Given the description of an element on the screen output the (x, y) to click on. 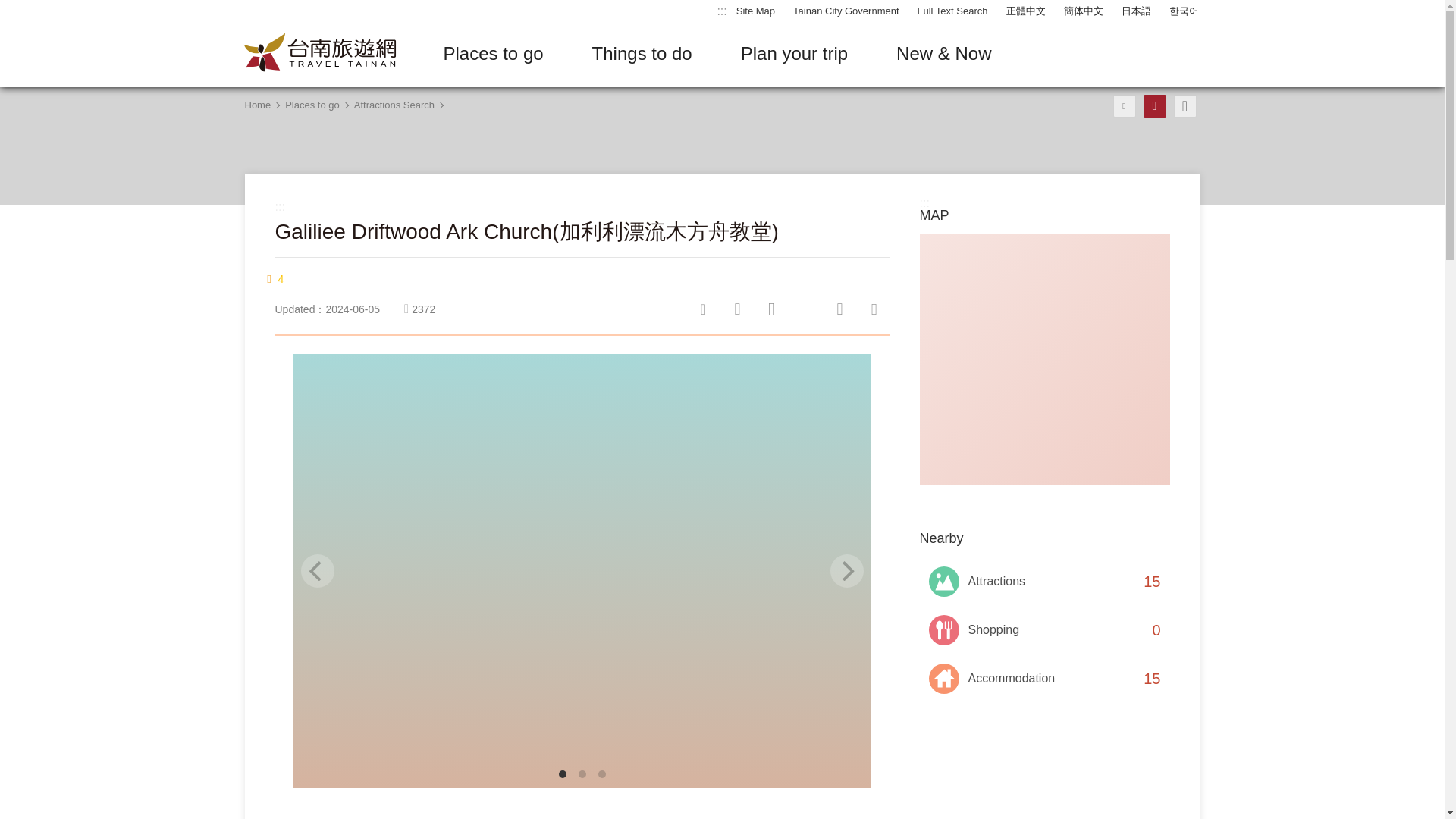
Tainan City Government (845, 11)
Tainan Travel (319, 53)
Full Text Search (952, 11)
Tainan Travel (319, 53)
Places to go (493, 53)
Site Map (755, 11)
Things to do (641, 53)
Site Map (755, 11)
Full Text Search (952, 11)
